Given the description of an element on the screen output the (x, y) to click on. 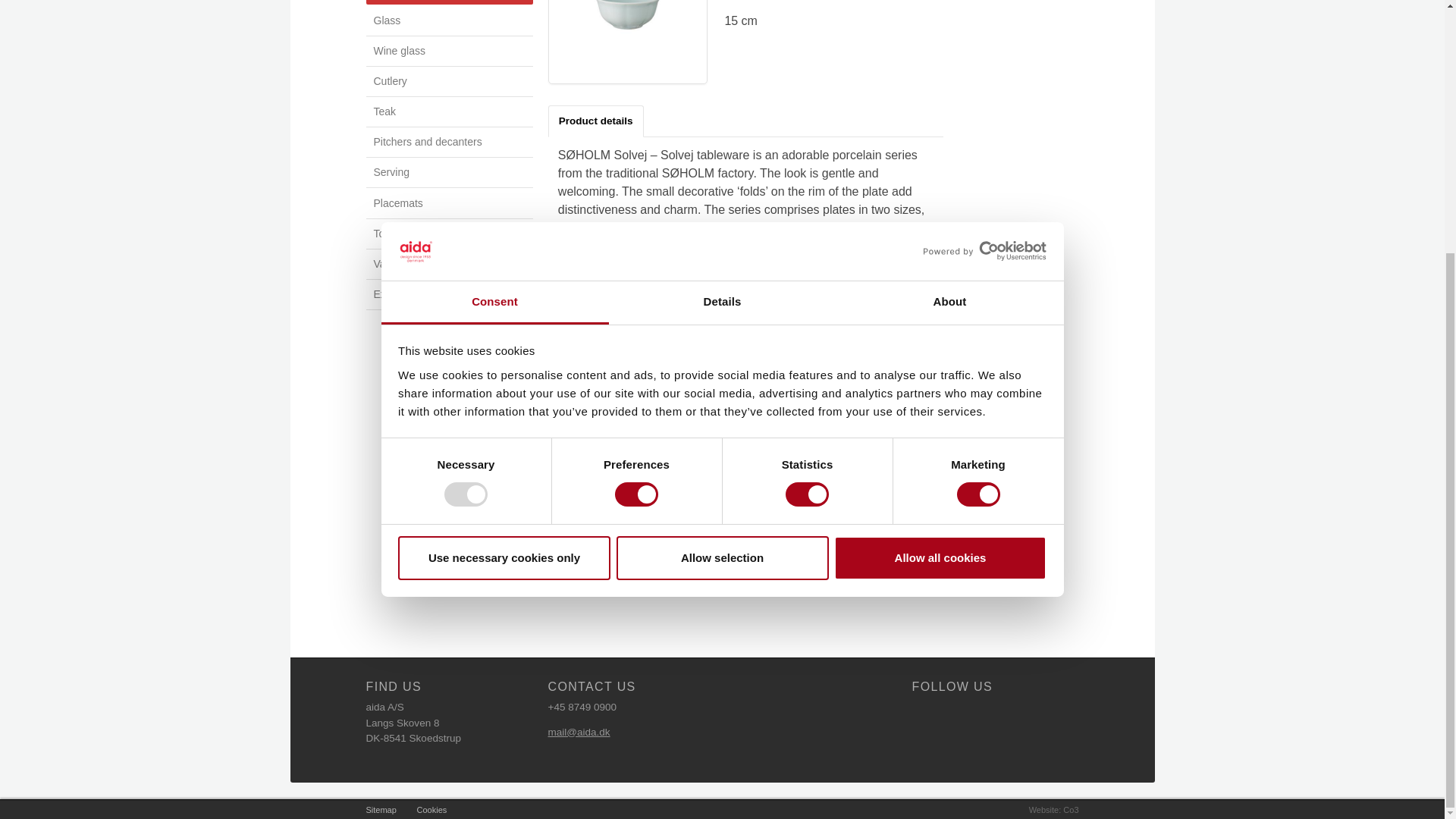
Use necessary cookies only (503, 200)
Allow selection (721, 200)
Allow all cookies (940, 200)
